Given the description of an element on the screen output the (x, y) to click on. 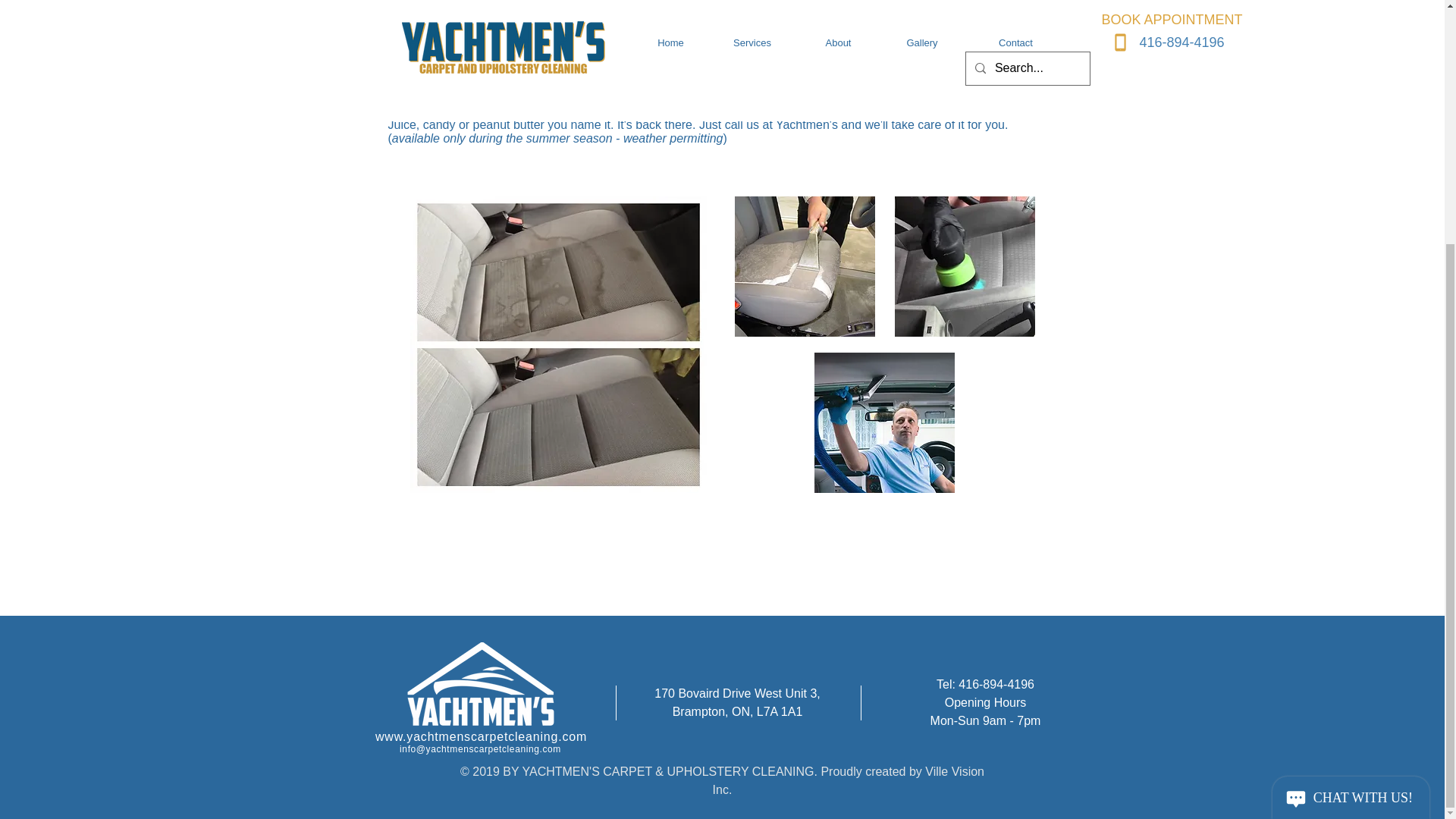
Book Now (979, 39)
www.yachtmenscarpetcleaning.com (480, 736)
